Given the description of an element on the screen output the (x, y) to click on. 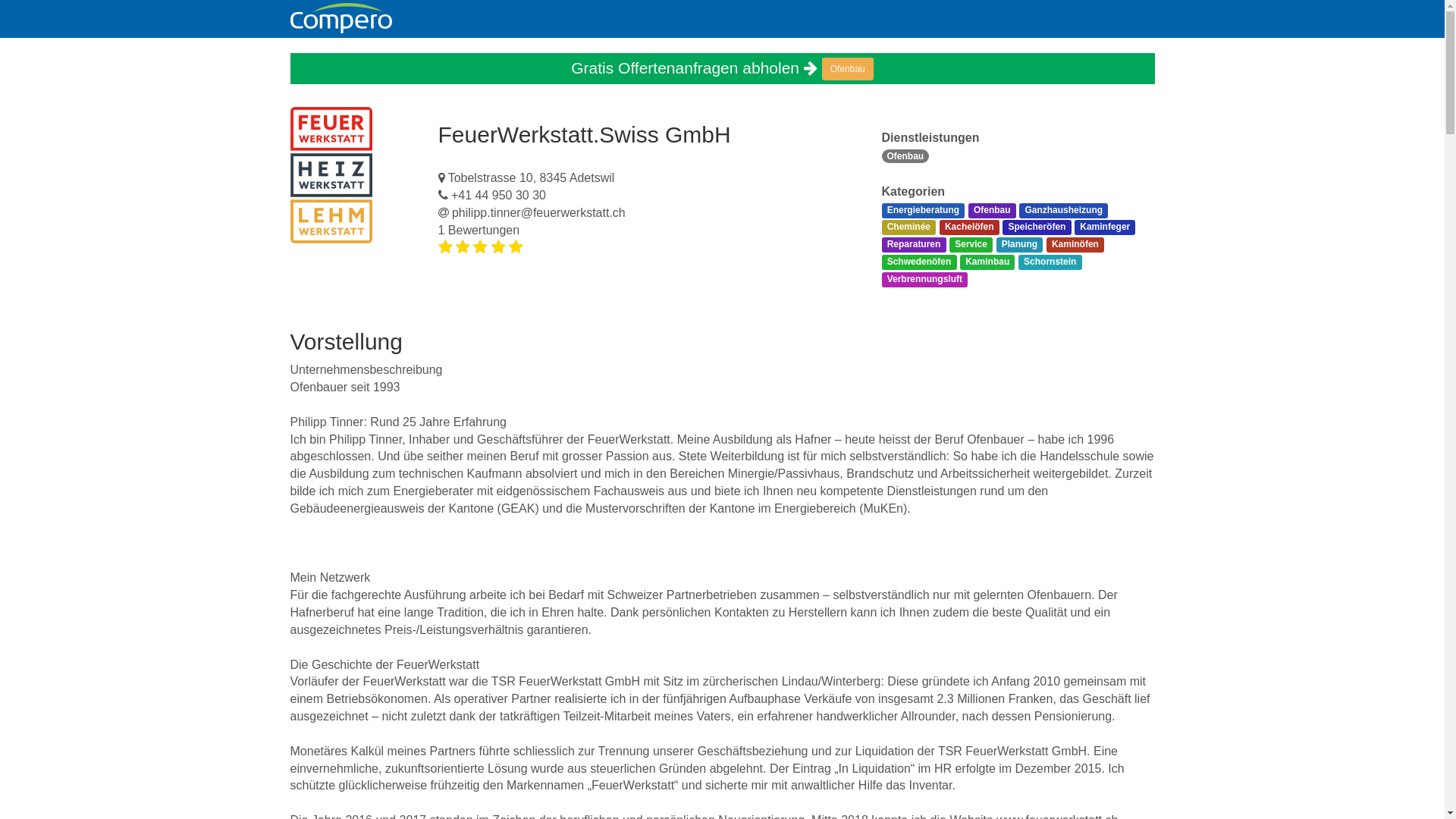
Ofenbau Element type: text (847, 68)
